Given the description of an element on the screen output the (x, y) to click on. 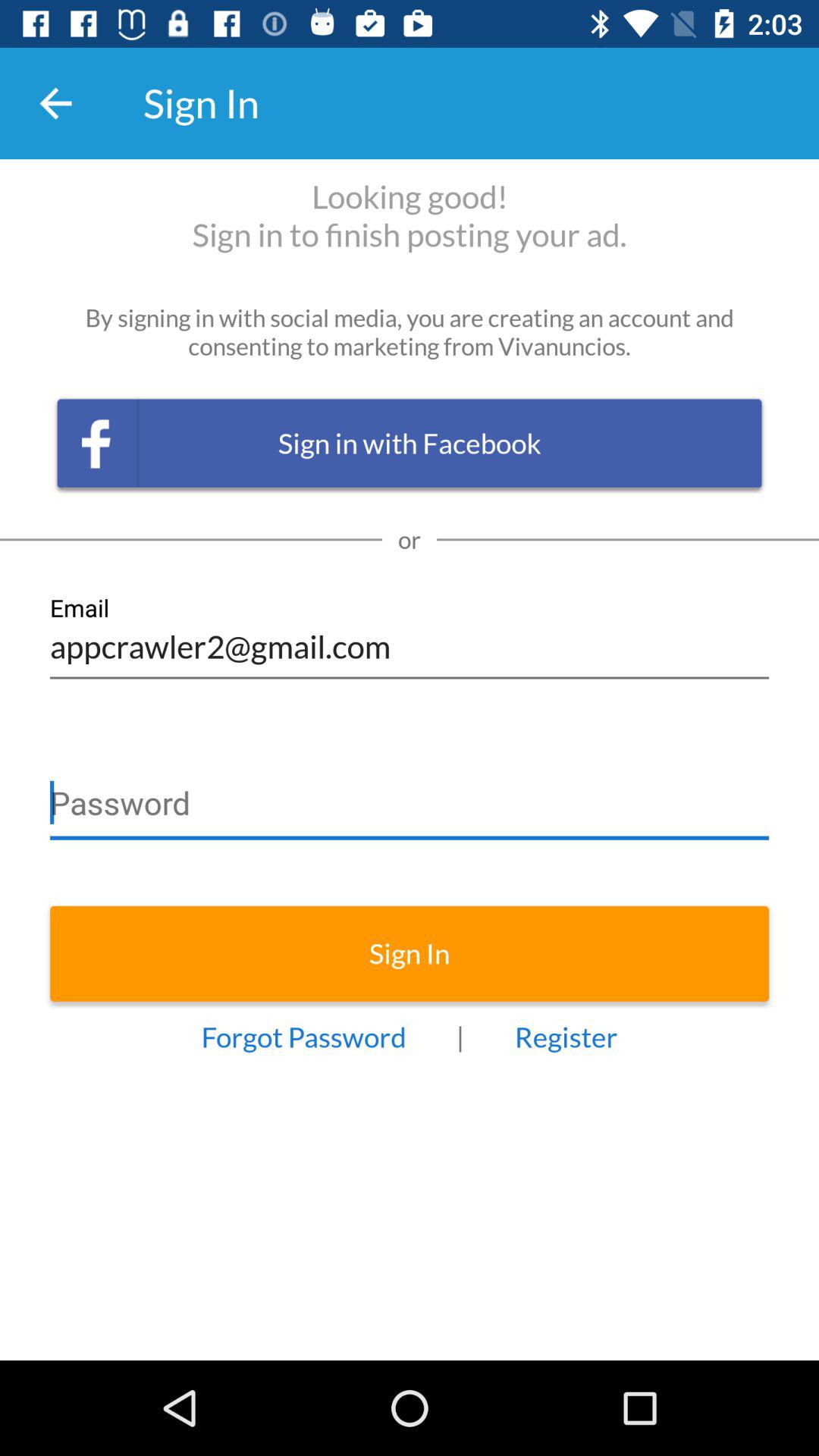
tap the icon above sign in icon (409, 795)
